Given the description of an element on the screen output the (x, y) to click on. 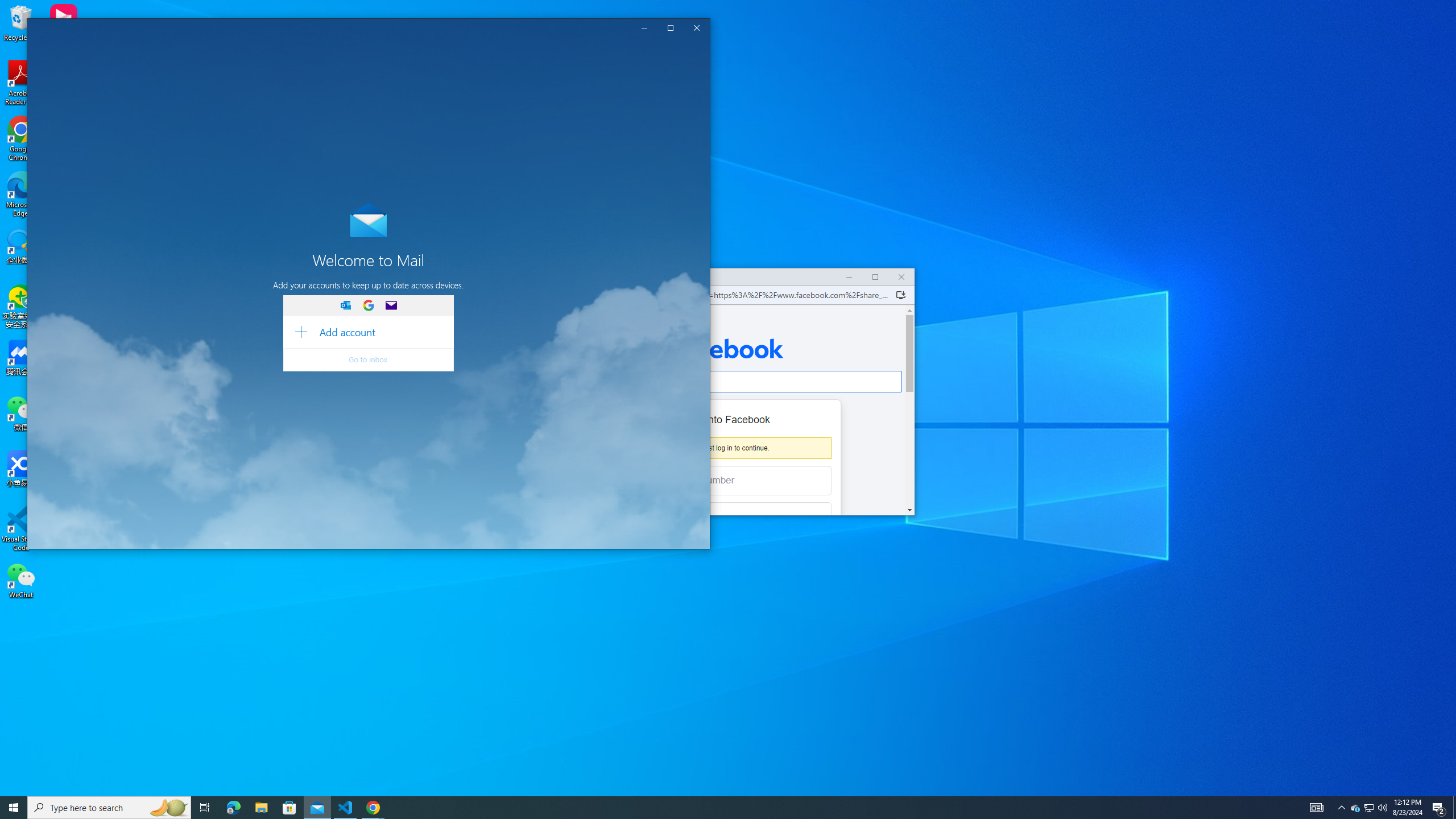
Search highlights icon opens search home window (167, 807)
Learn more (415, 50)
Microsoft Store (289, 807)
More (1368, 807)
Action Center, 2 new notifications (100, 228)
Show desktop (1439, 807)
Switch to calendar (1454, 807)
Outlook, EugeneLedger601@outlook.com (68, 534)
Get the free Outlook app on your phone (100, 141)
Sync this view (100, 506)
